Given the description of an element on the screen output the (x, y) to click on. 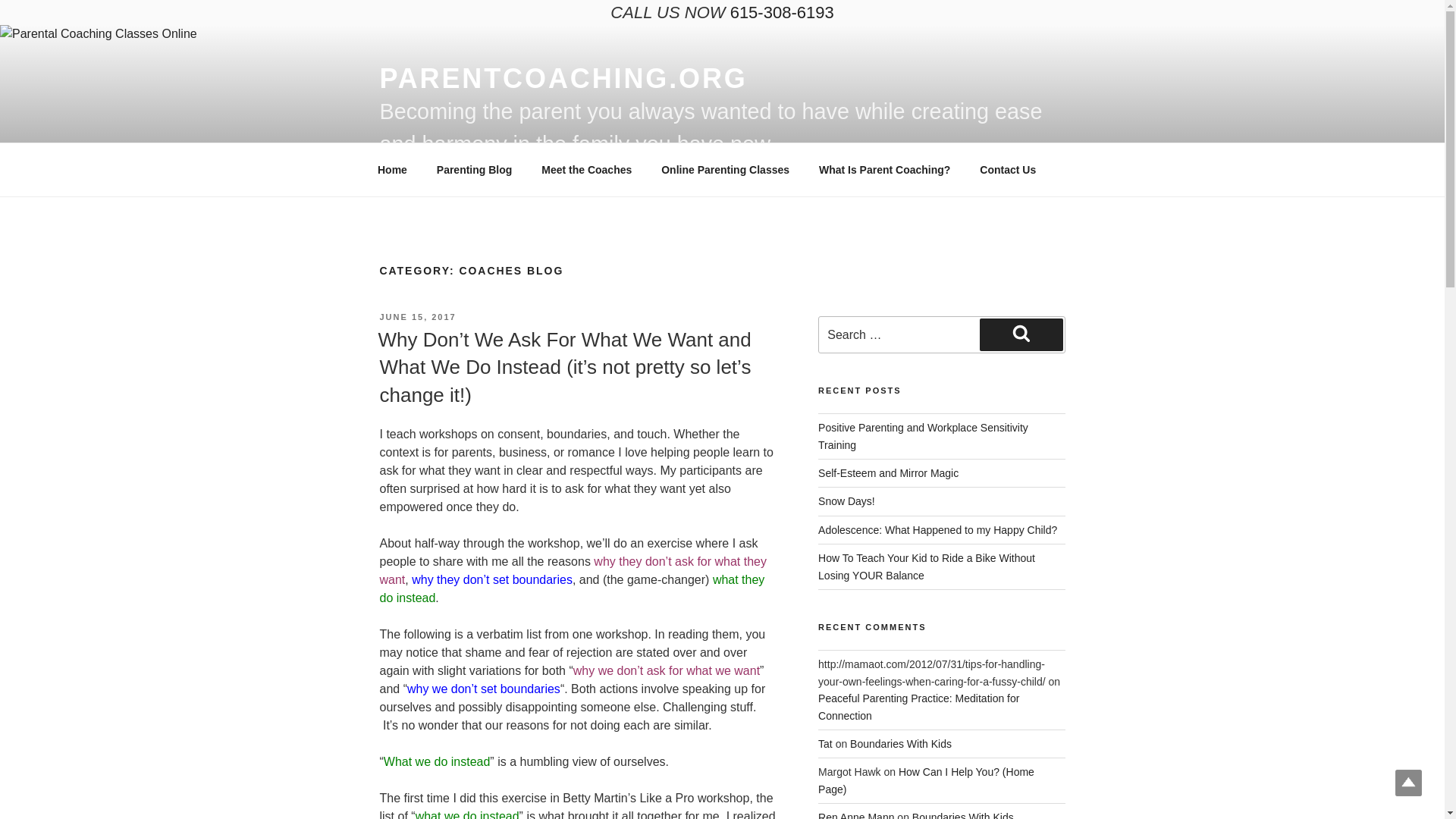
Search (1020, 334)
Online Parenting Classes (725, 170)
Contact Us (1007, 170)
Boundaries With Kids (962, 815)
615-308-6193 (782, 12)
Ren Anne Mann (855, 815)
Adolescence: What Happened to my Happy Child? (937, 530)
JUNE 15, 2017 (416, 316)
PARENTCOACHING.ORG (562, 78)
Peaceful Parenting Practice: Meditation for Connection (918, 706)
Snow Days! (846, 500)
Boundaries With Kids (901, 743)
Tat (825, 743)
Home (392, 170)
